Given the description of an element on the screen output the (x, y) to click on. 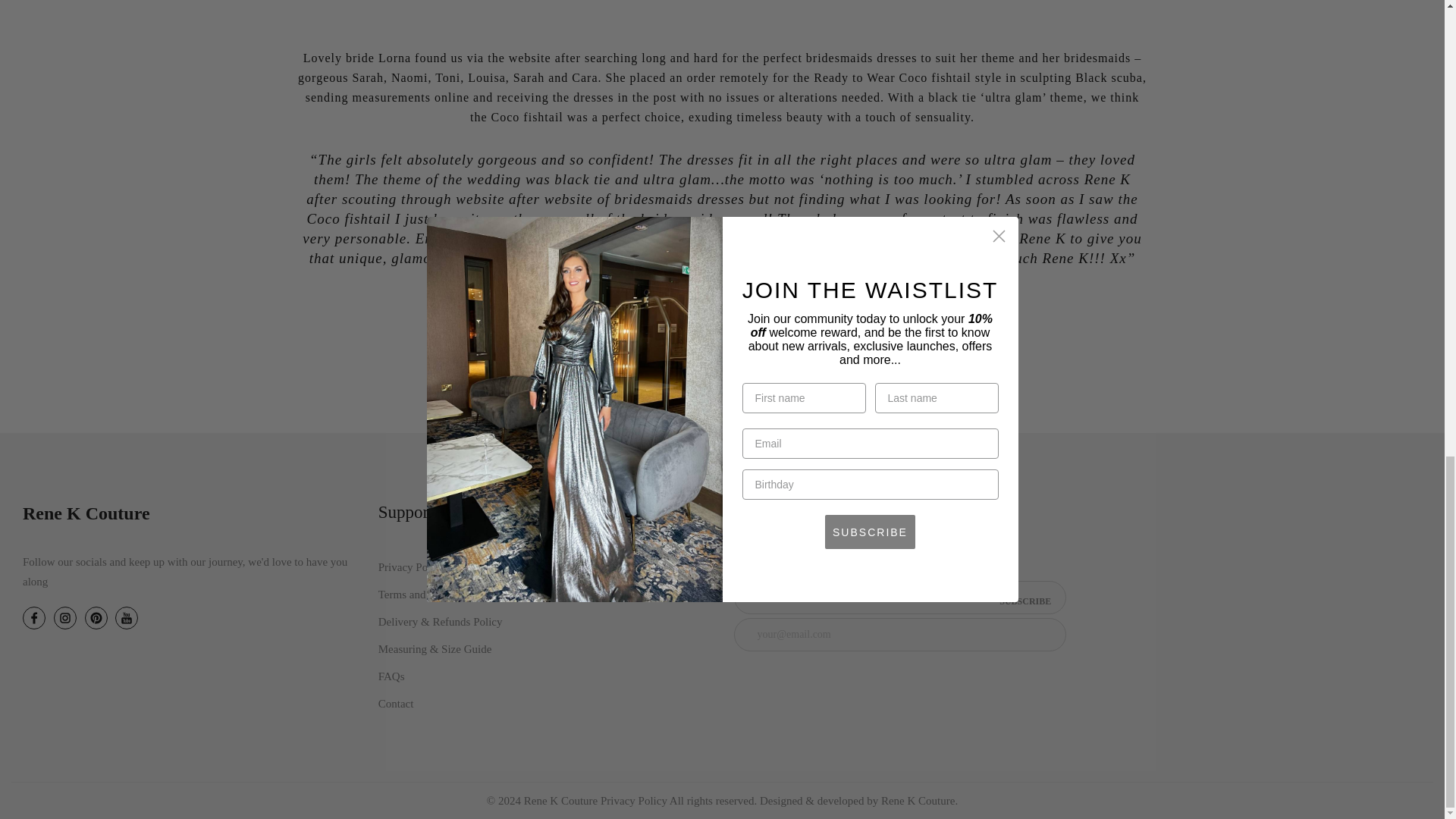
Terms and Conditions (428, 594)
Subscribe (1024, 601)
BOOK AN APPOINTMENT (721, 371)
GET IN TOUCH (721, 309)
Privacy Policy (411, 567)
